Given the description of an element on the screen output the (x, y) to click on. 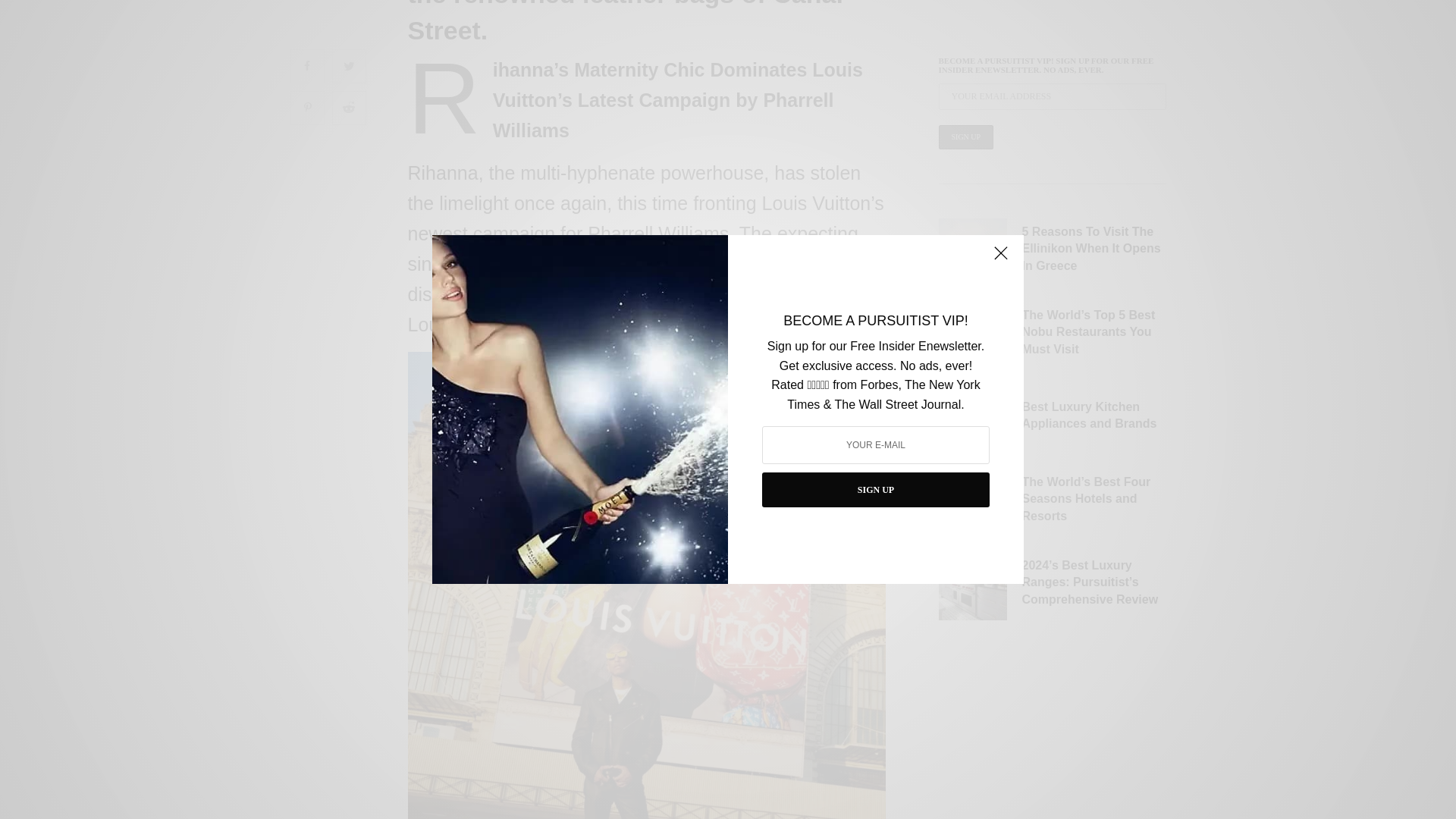
5 Reasons To Visit The Ellinikon When It Opens In Greece (1094, 12)
